Given the description of an element on the screen output the (x, y) to click on. 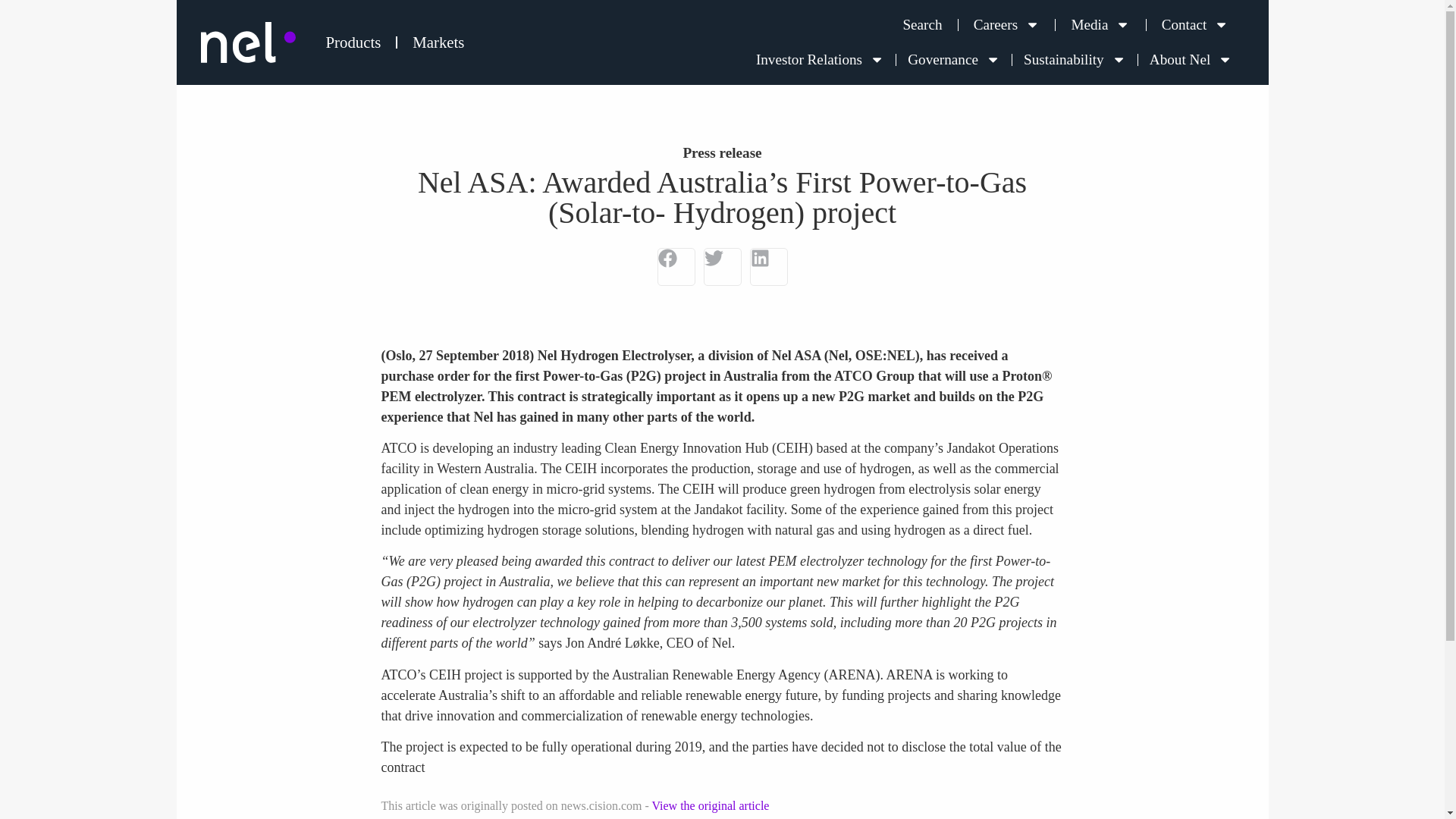
Search (921, 24)
Products (353, 42)
Products (353, 42)
Careers (1006, 24)
Markets (438, 42)
Search (921, 24)
